Given the description of an element on the screen output the (x, y) to click on. 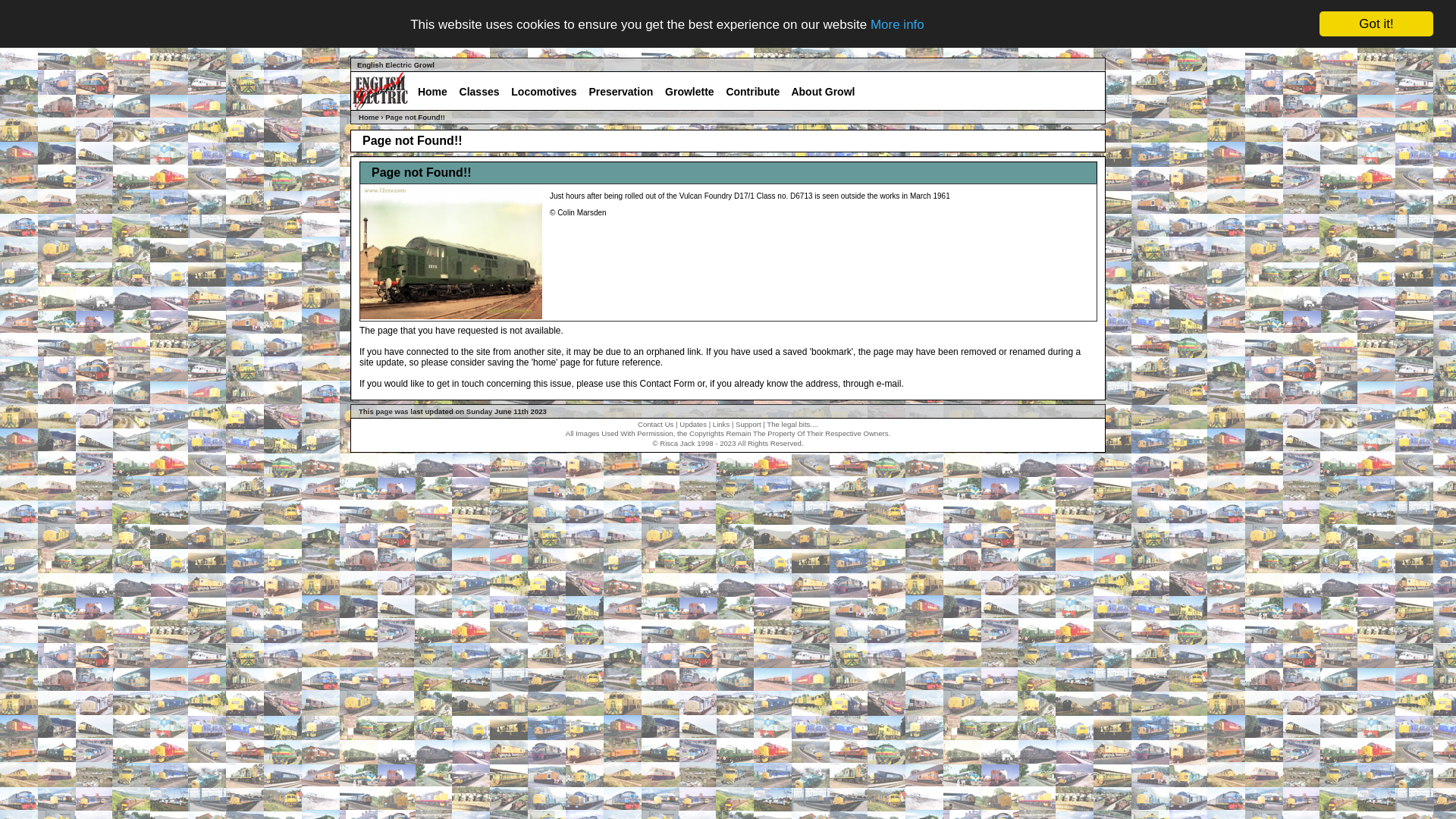
English Electric Growl Element type: text (395, 64)
Got it! Element type: text (1376, 23)
Home Element type: text (368, 116)
 Growlette  Element type: text (688, 91)
Contact Us Element type: text (655, 424)
Risca Jack Element type: text (676, 443)
 Preservation  Element type: text (621, 91)
 Locomotives  Element type: text (543, 91)
 Classes  Element type: text (479, 91)
 Home  Element type: text (432, 91)
Contact Form Element type: text (667, 383)
More info Element type: text (897, 23)
Updates Element type: text (692, 424)
 About Growl  Element type: text (822, 91)
Links Element type: text (720, 424)
Support Element type: text (748, 424)
The legal bits.... Element type: text (792, 424)
 Contribute  Element type: text (753, 91)
